Given the description of an element on the screen output the (x, y) to click on. 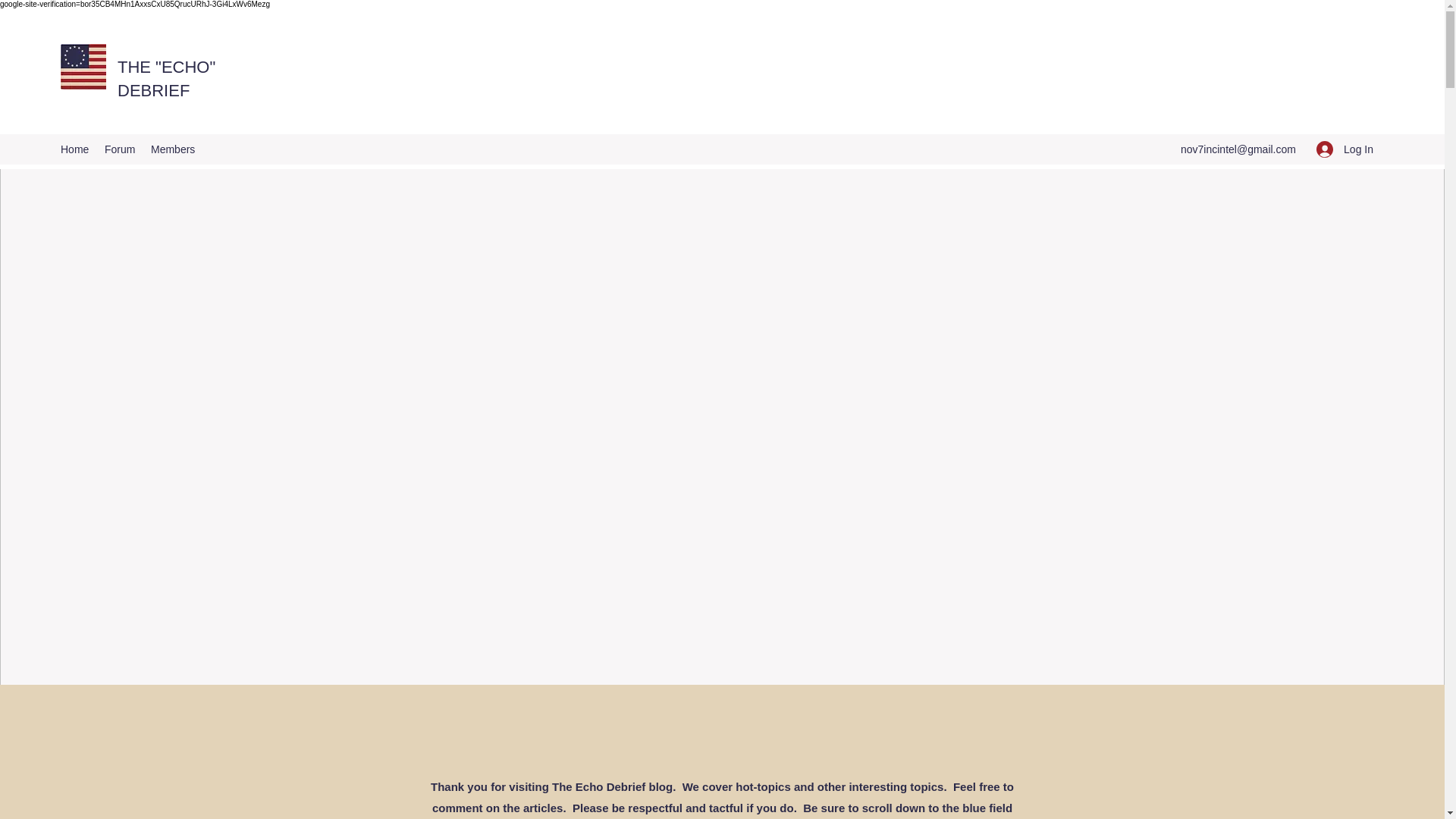
Forum (119, 149)
Home (74, 149)
Log In (1345, 148)
Members (173, 149)
THE "ECHO" DEBRIEF (166, 78)
